Given the description of an element on the screen output the (x, y) to click on. 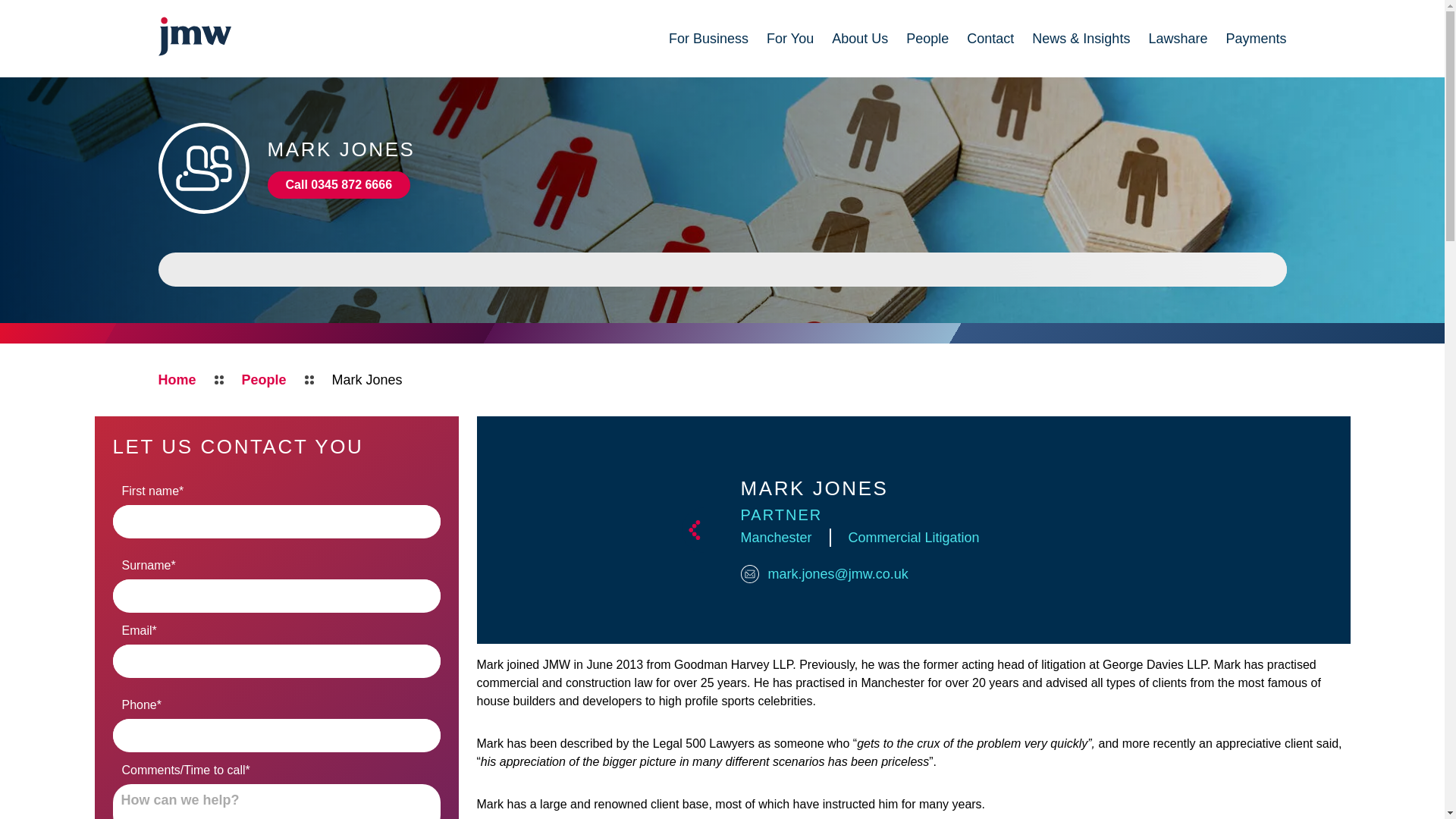
People (927, 38)
Manchester (774, 537)
Lawshare (1177, 38)
People (263, 380)
For Business (708, 38)
Payments (1255, 38)
Contact (989, 38)
About Us (859, 38)
Home (176, 380)
For You (790, 38)
Commercial Litigation (913, 537)
Call 0345 872 6666 (338, 185)
